Given the description of an element on the screen output the (x, y) to click on. 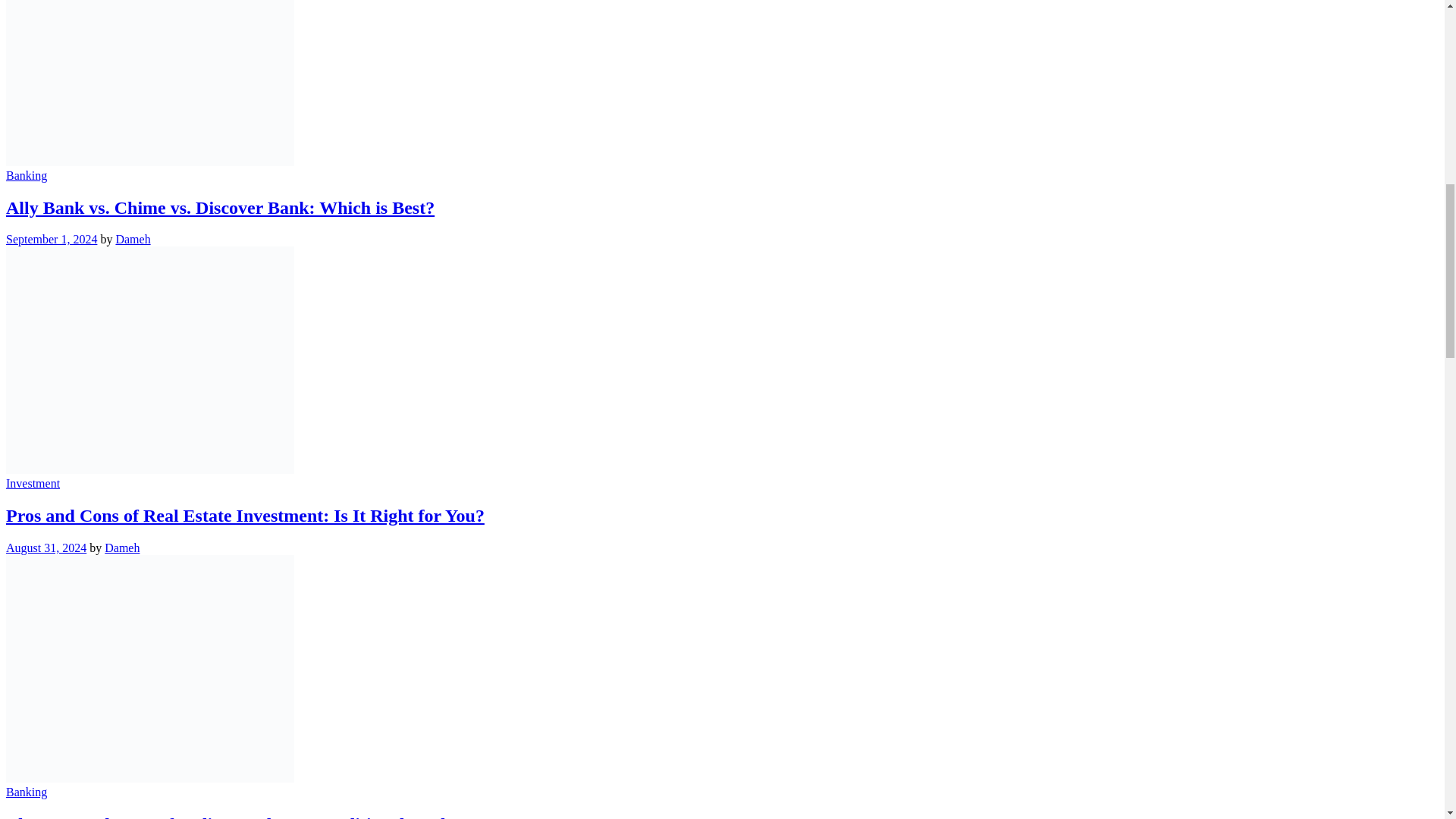
August 31, 2024 (45, 547)
Banking (25, 791)
Dameh (121, 547)
Investment (32, 482)
Banking (25, 174)
September 1, 2024 (51, 238)
Dameh (132, 238)
Ally Bank vs. Chime vs. Discover Bank: Which is Best? (219, 207)
